Given the description of an element on the screen output the (x, y) to click on. 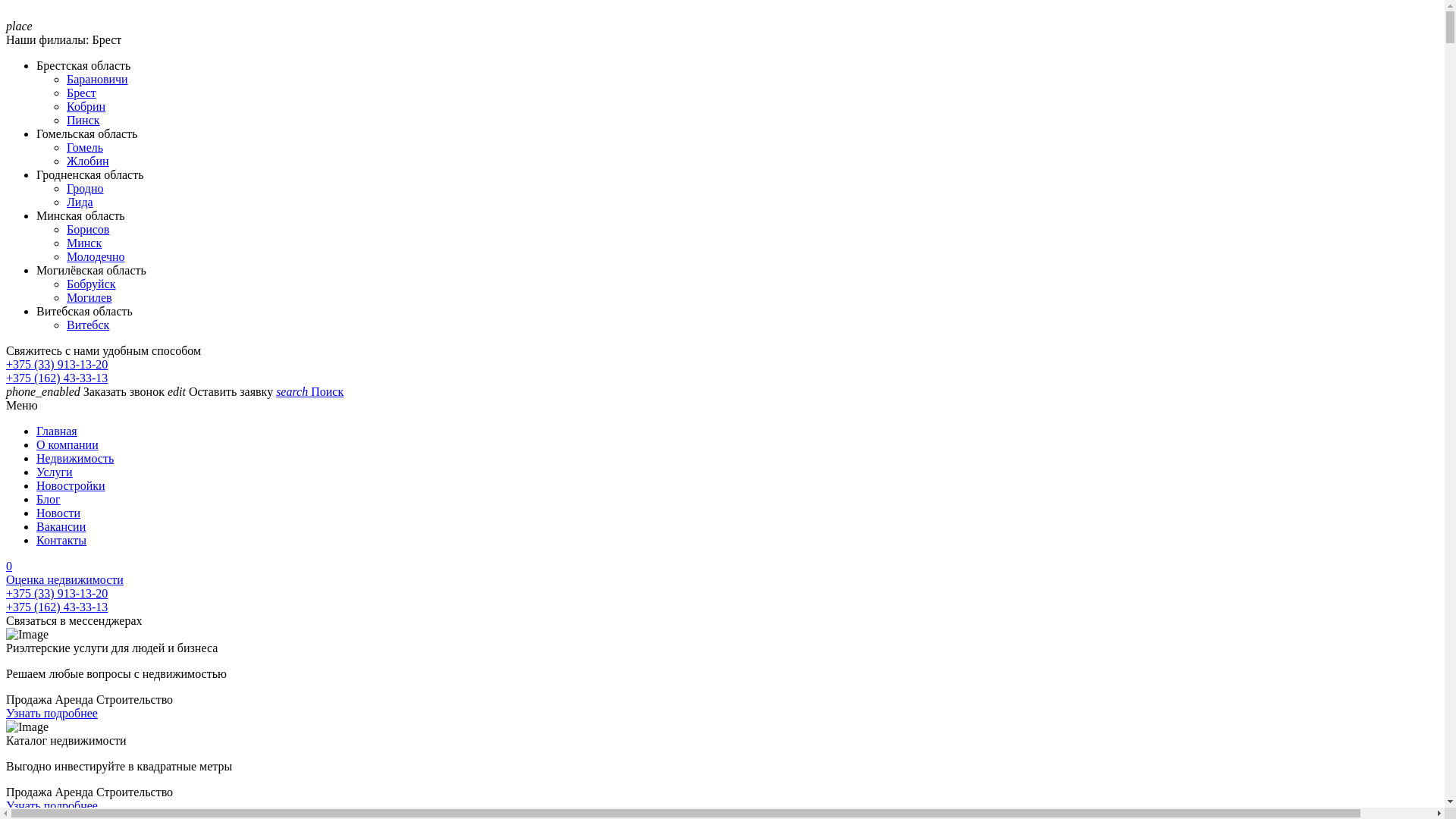
0 Element type: text (722, 566)
+375 (33) 913-13-20 Element type: text (56, 363)
+375 (162) 43-33-13 Element type: text (56, 606)
+375 (162) 43-33-13 Element type: text (56, 377)
+375 (33) 913-13-20 Element type: text (56, 592)
